Given the description of an element on the screen output the (x, y) to click on. 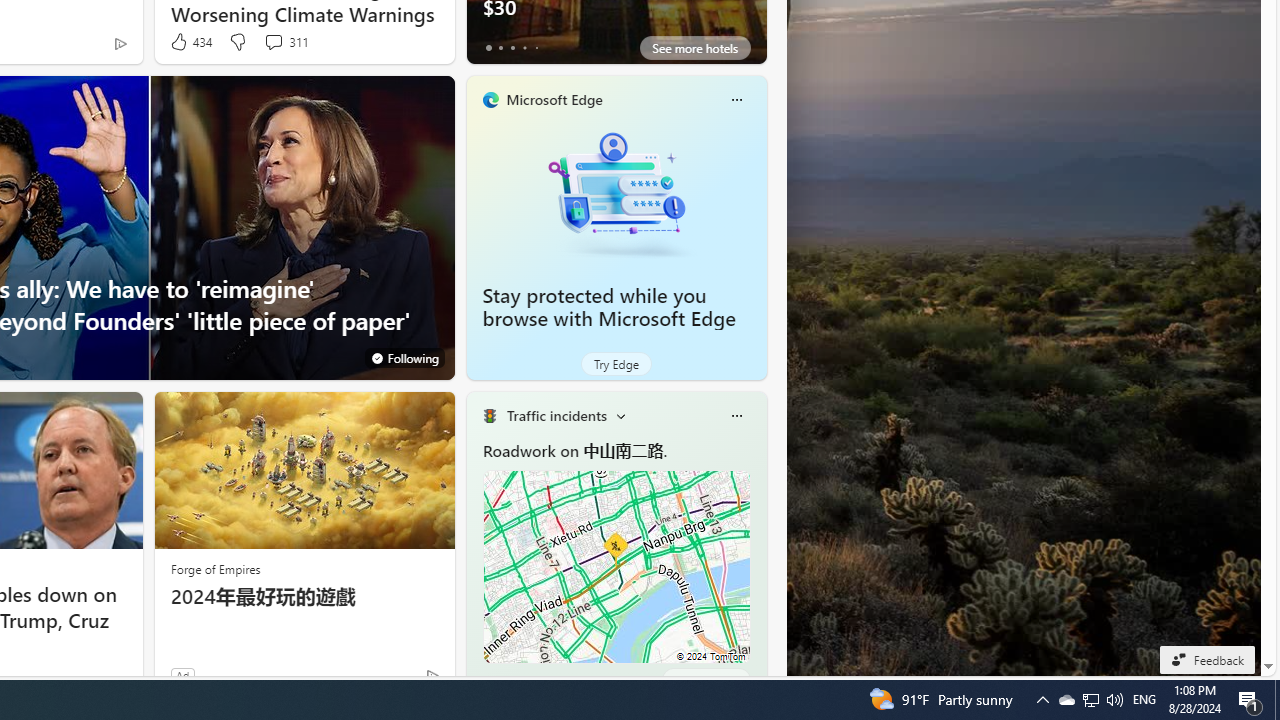
View comments 311 Comment (273, 41)
Stay protected while you browse with Microsoft Edge (616, 193)
Class: icon-img (736, 416)
tab-3 (524, 679)
Traffic incidents (555, 415)
Traffic Title Traffic Light (489, 416)
tab-2 (511, 679)
Microsoft Edge (553, 99)
